Given the description of an element on the screen output the (x, y) to click on. 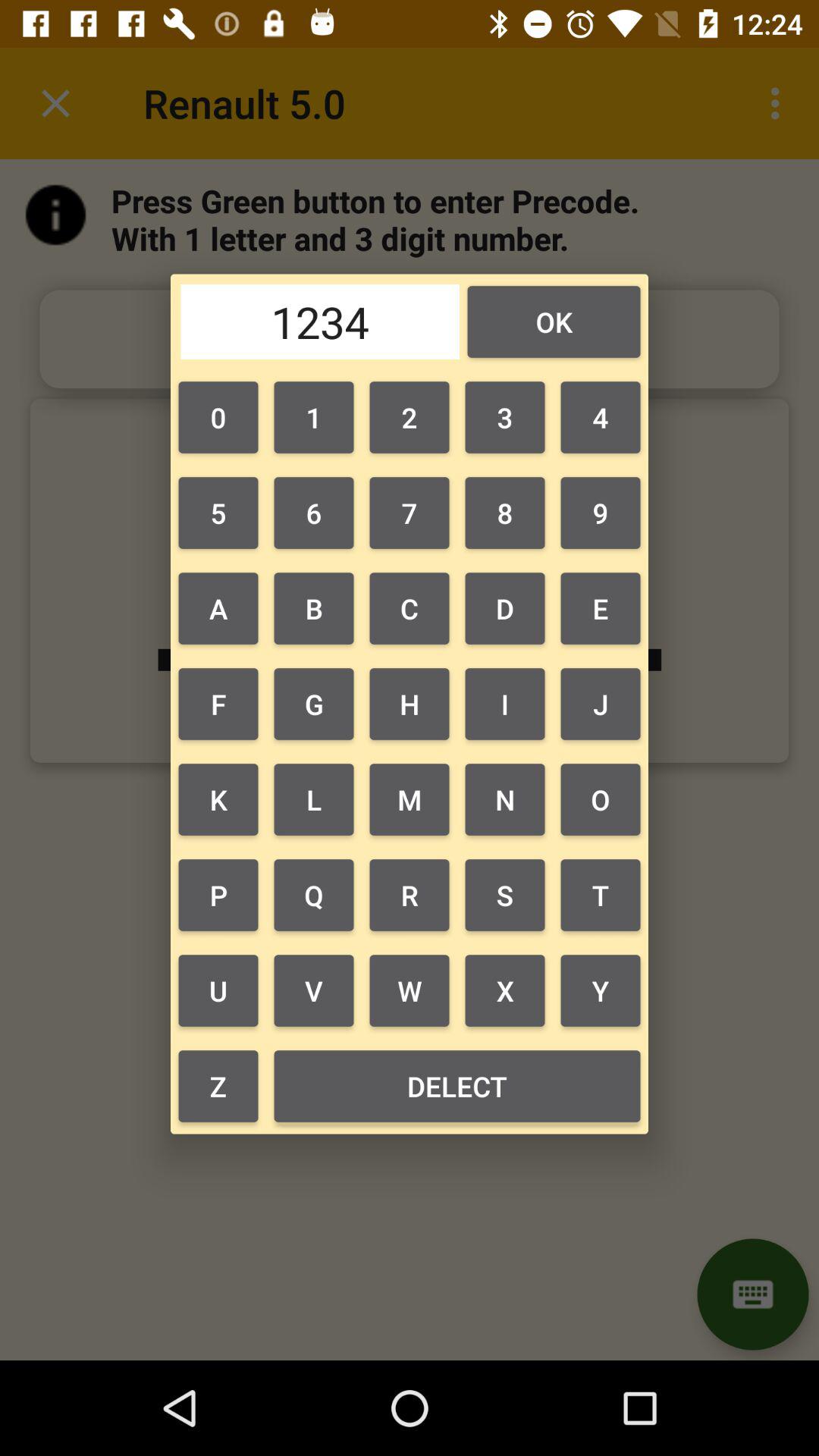
press icon next to 4 icon (504, 417)
